Given the description of an element on the screen output the (x, y) to click on. 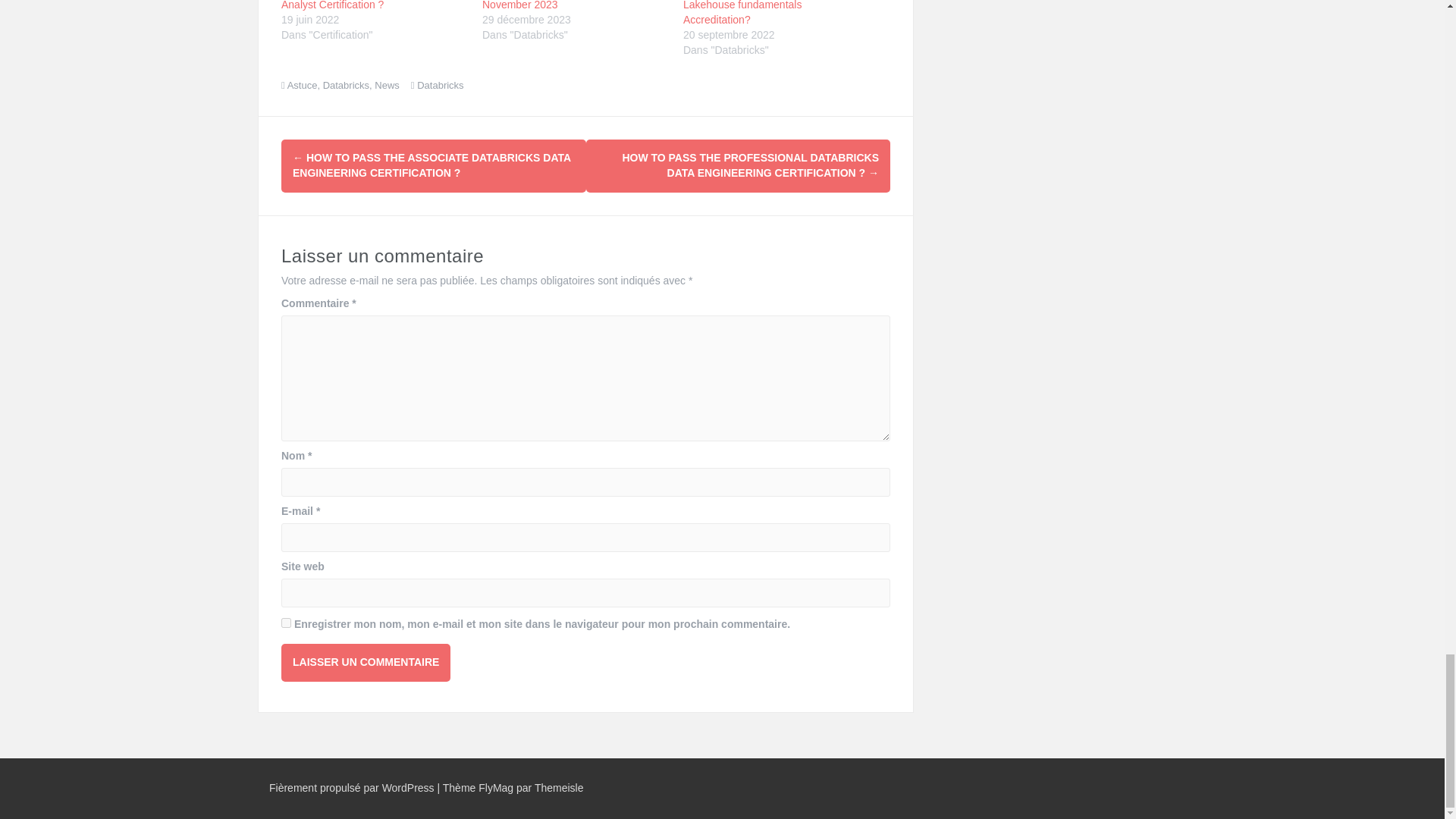
News (386, 84)
Astuce (301, 84)
yes (286, 623)
Databricks (346, 84)
How to pass the Associate Data Analyst Certification ? (355, 5)
FlyMag (496, 787)
How to pass the Associate Data Analyst Certification ? (355, 5)
Laisser un commentaire (365, 662)
Databricks (439, 84)
Laisser un commentaire (365, 662)
